Given the description of an element on the screen output the (x, y) to click on. 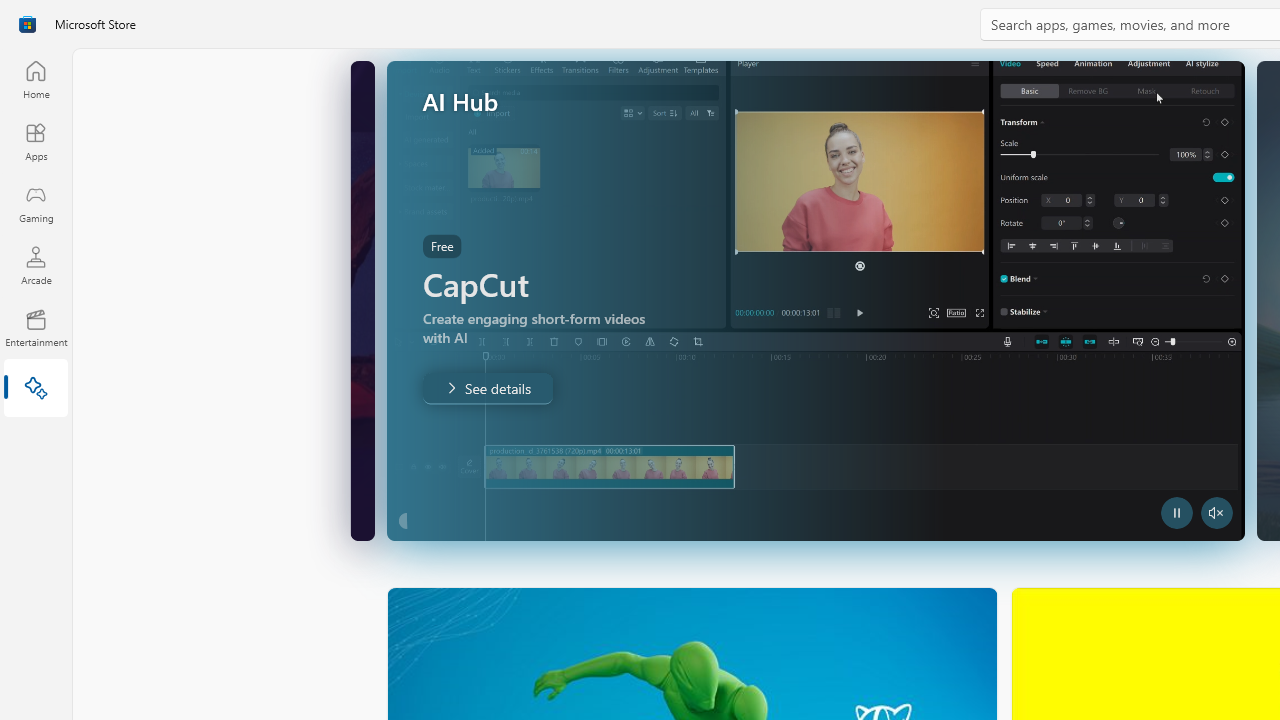
AI Hub (35, 390)
Unmute (1215, 512)
AutomationID: Image (815, 300)
Gaming (35, 203)
Arcade (35, 265)
Apps (35, 141)
Pause Trailer (1175, 512)
Home (35, 79)
Entertainment (35, 327)
Class: Image (27, 24)
